Given the description of an element on the screen output the (x, y) to click on. 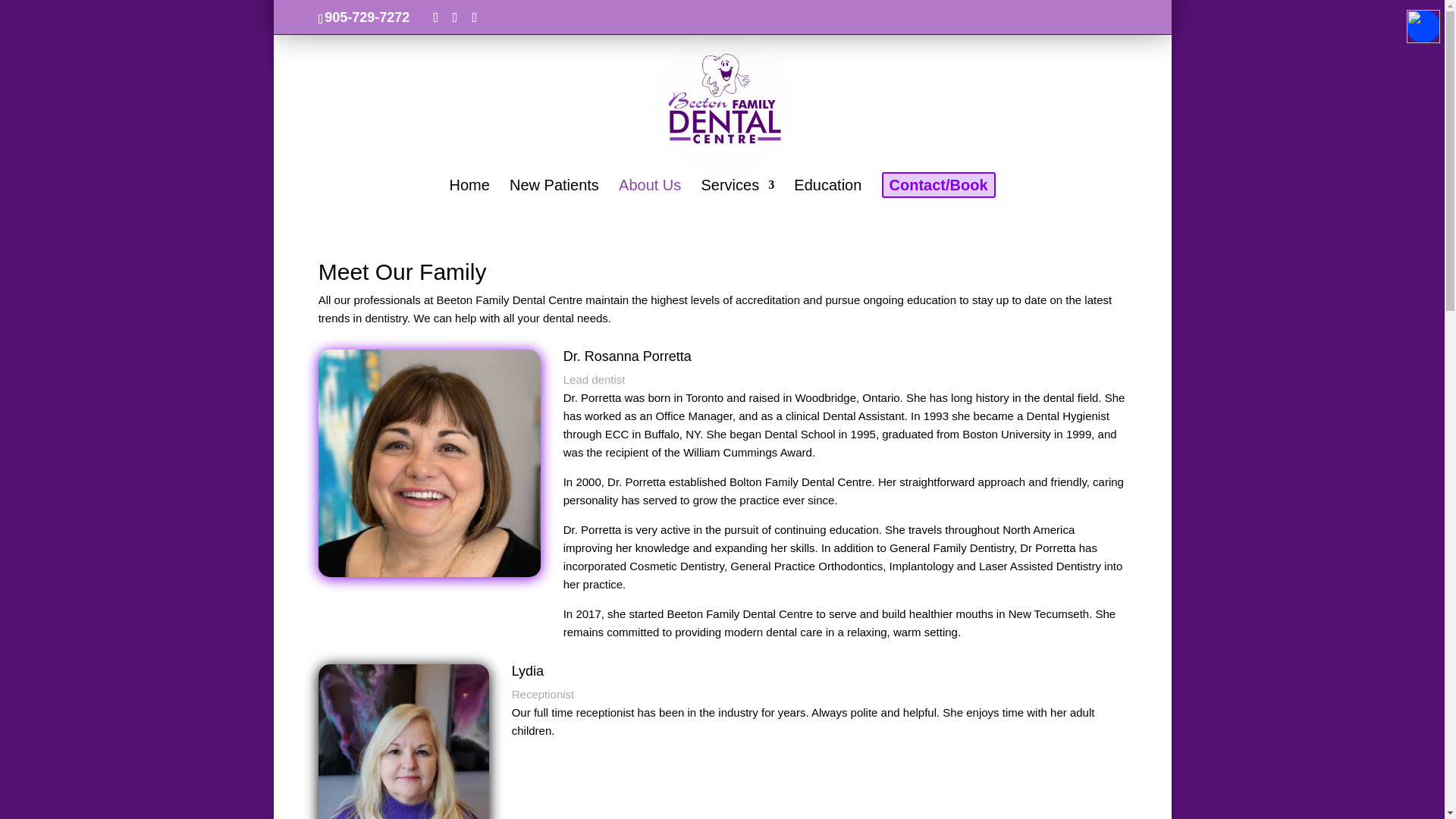
About Us (649, 197)
Education (827, 197)
New Patients (553, 197)
Accessibility Menu (1422, 26)
Home (468, 197)
Services (737, 197)
